Given the description of an element on the screen output the (x, y) to click on. 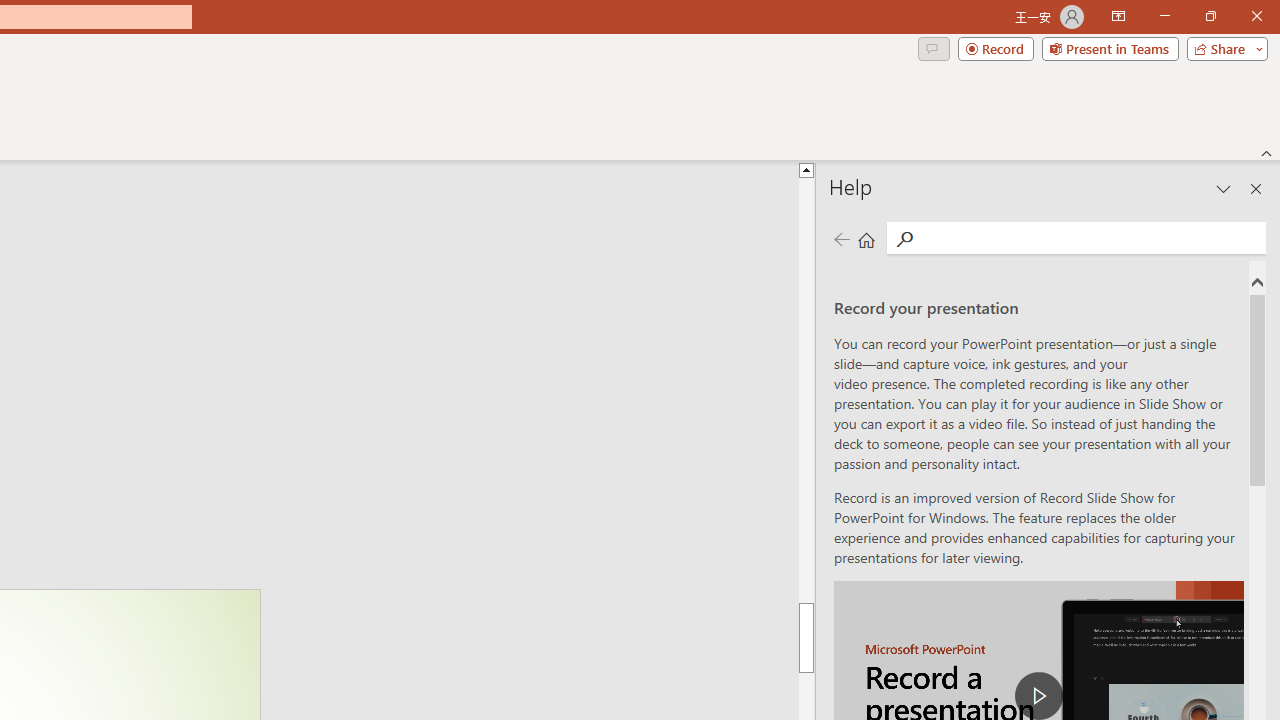
Present in Teams (1109, 48)
Line up (806, 169)
Ribbon Display Options (1118, 16)
play Record a Presentation (1038, 695)
Minimize (1164, 16)
Previous page (841, 238)
Restore Down (1210, 16)
Share (1223, 48)
Search (1089, 237)
Record (995, 48)
Close (1256, 16)
Page up (806, 390)
Home (866, 238)
Collapse the Ribbon (1267, 152)
